Given the description of an element on the screen output the (x, y) to click on. 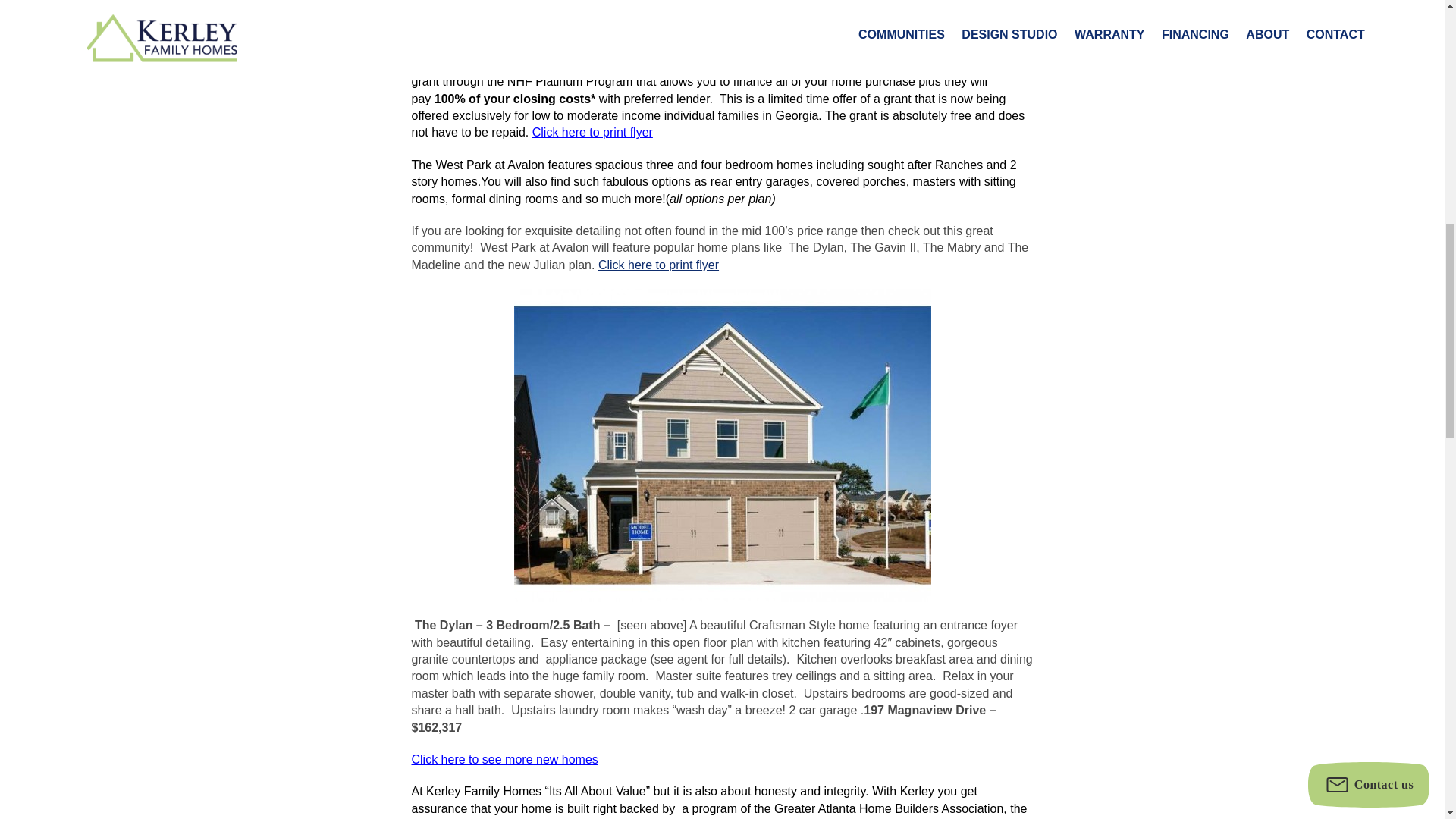
Click here to print flyer (658, 264)
Click here to see more new homes (503, 758)
Click here to print flyer (592, 132)
